Given the description of an element on the screen output the (x, y) to click on. 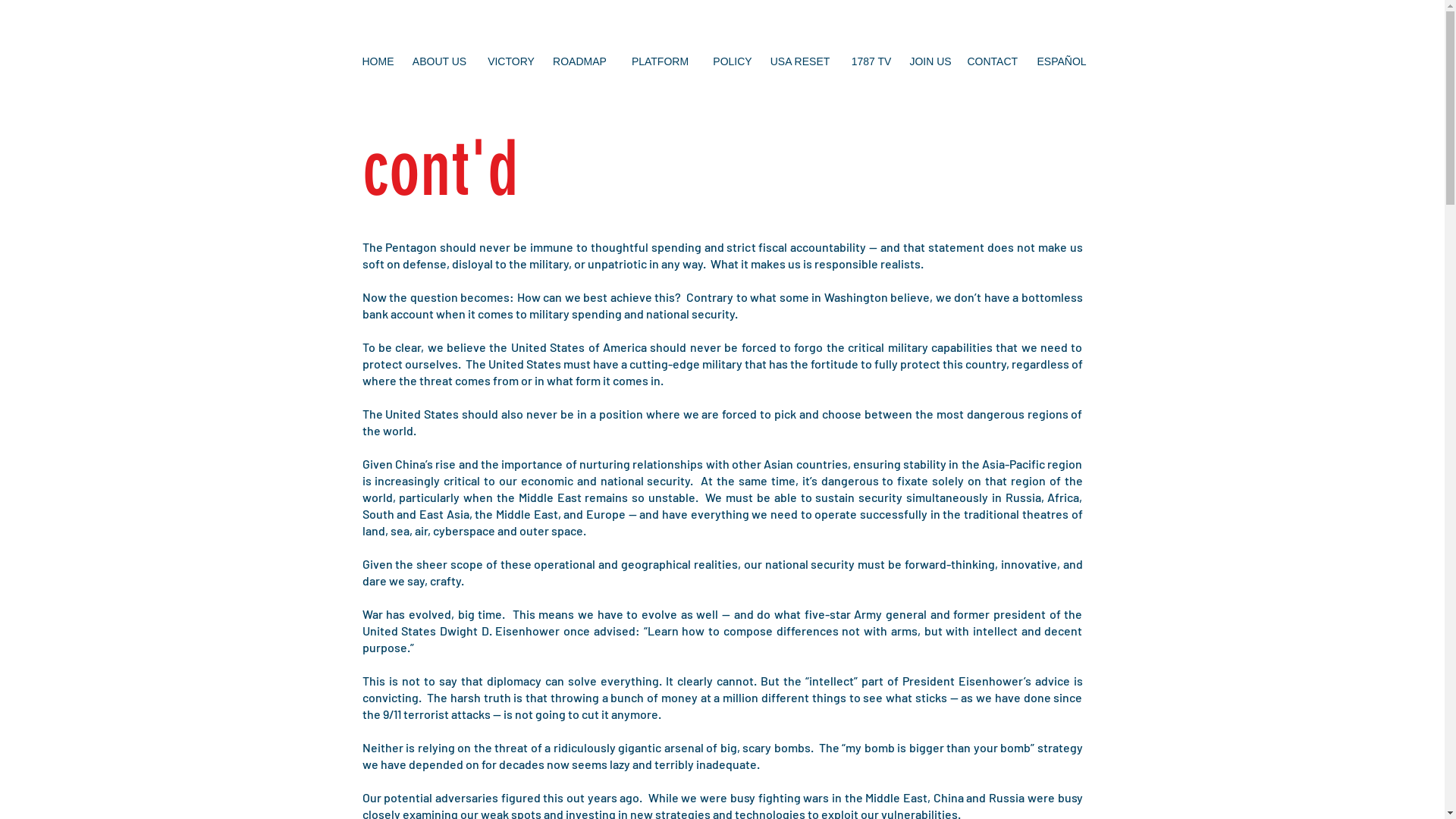
VICTORY Element type: text (510, 61)
PLATFORM Element type: text (659, 61)
CONTACT Element type: text (992, 61)
ABOUT US Element type: text (439, 61)
POLICY Element type: text (731, 61)
ROADMAP Element type: text (579, 61)
JOIN US Element type: text (929, 61)
USA RESET Element type: text (800, 61)
1787 TV Element type: text (871, 61)
HOME Element type: text (378, 61)
